Given the description of an element on the screen output the (x, y) to click on. 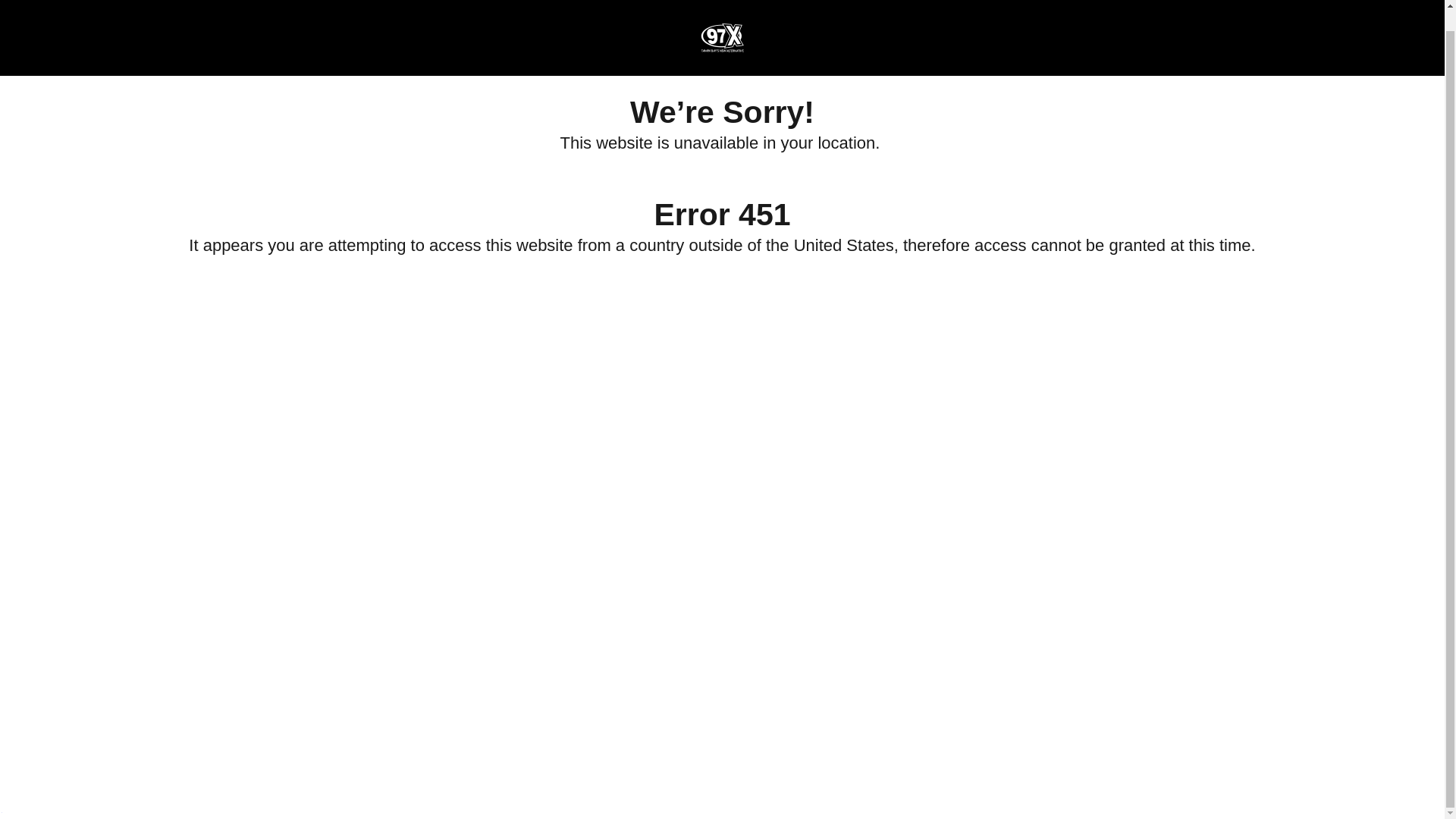
97X (721, 17)
